Given the description of an element on the screen output the (x, y) to click on. 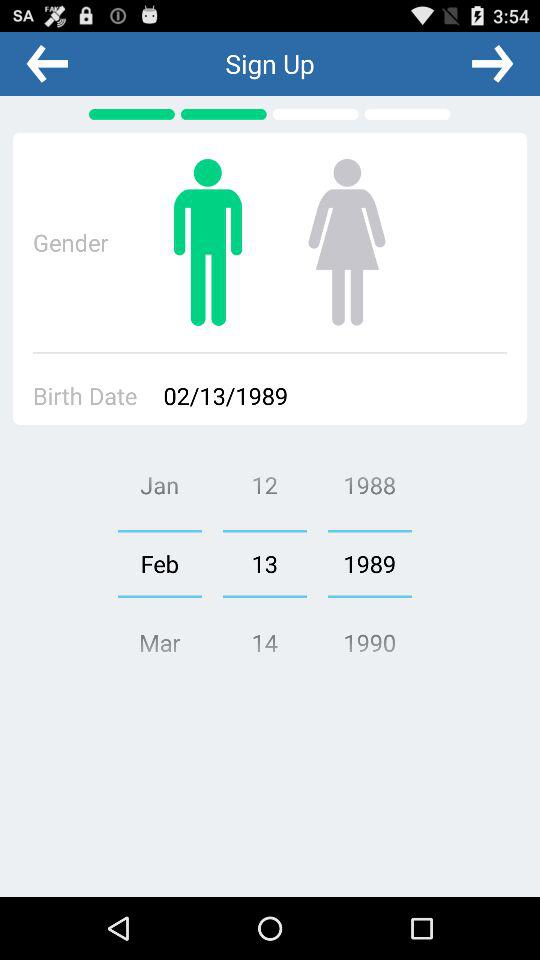
select male (208, 242)
